Given the description of an element on the screen output the (x, y) to click on. 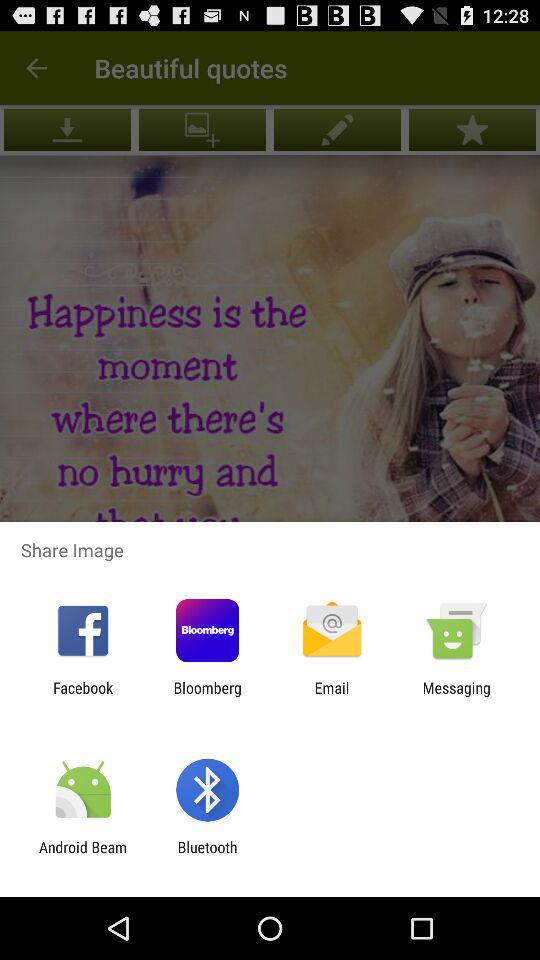
turn on the app to the left of messaging icon (331, 696)
